Given the description of an element on the screen output the (x, y) to click on. 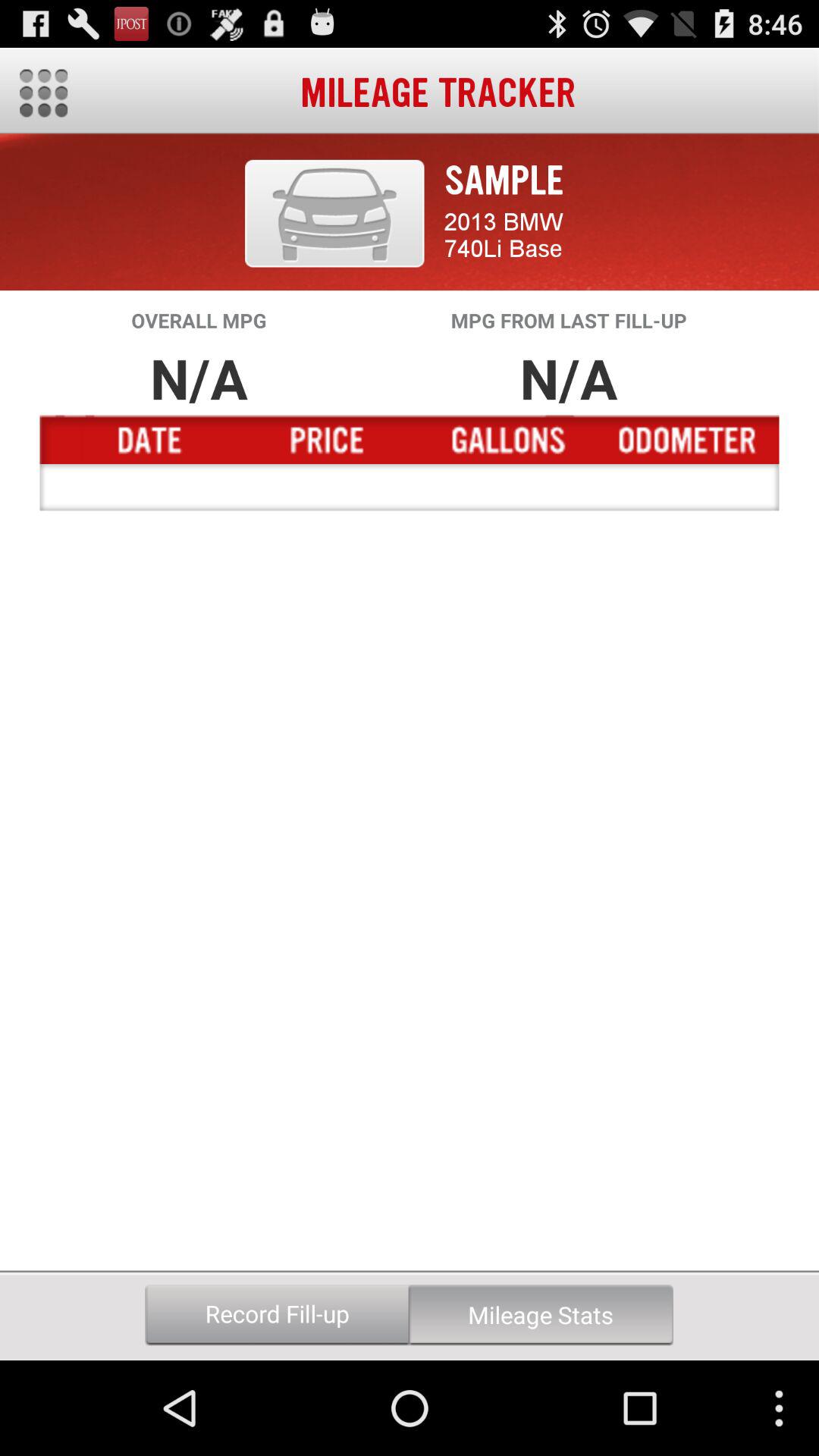
click the item below the mileage tracker icon (334, 213)
